Given the description of an element on the screen output the (x, y) to click on. 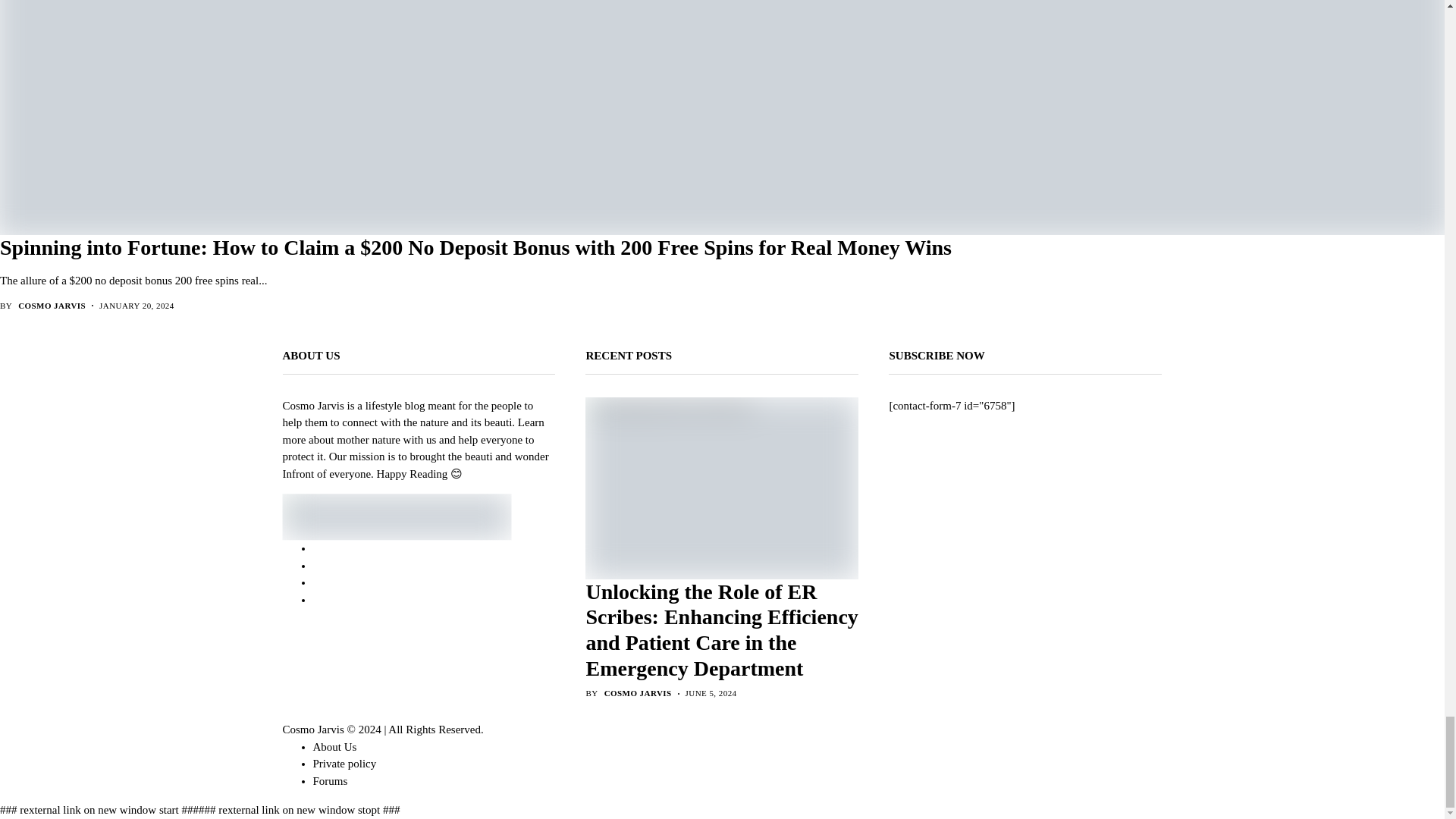
Posts by Cosmo Jarvis (51, 306)
Posts by Cosmo Jarvis (637, 693)
